Given the description of an element on the screen output the (x, y) to click on. 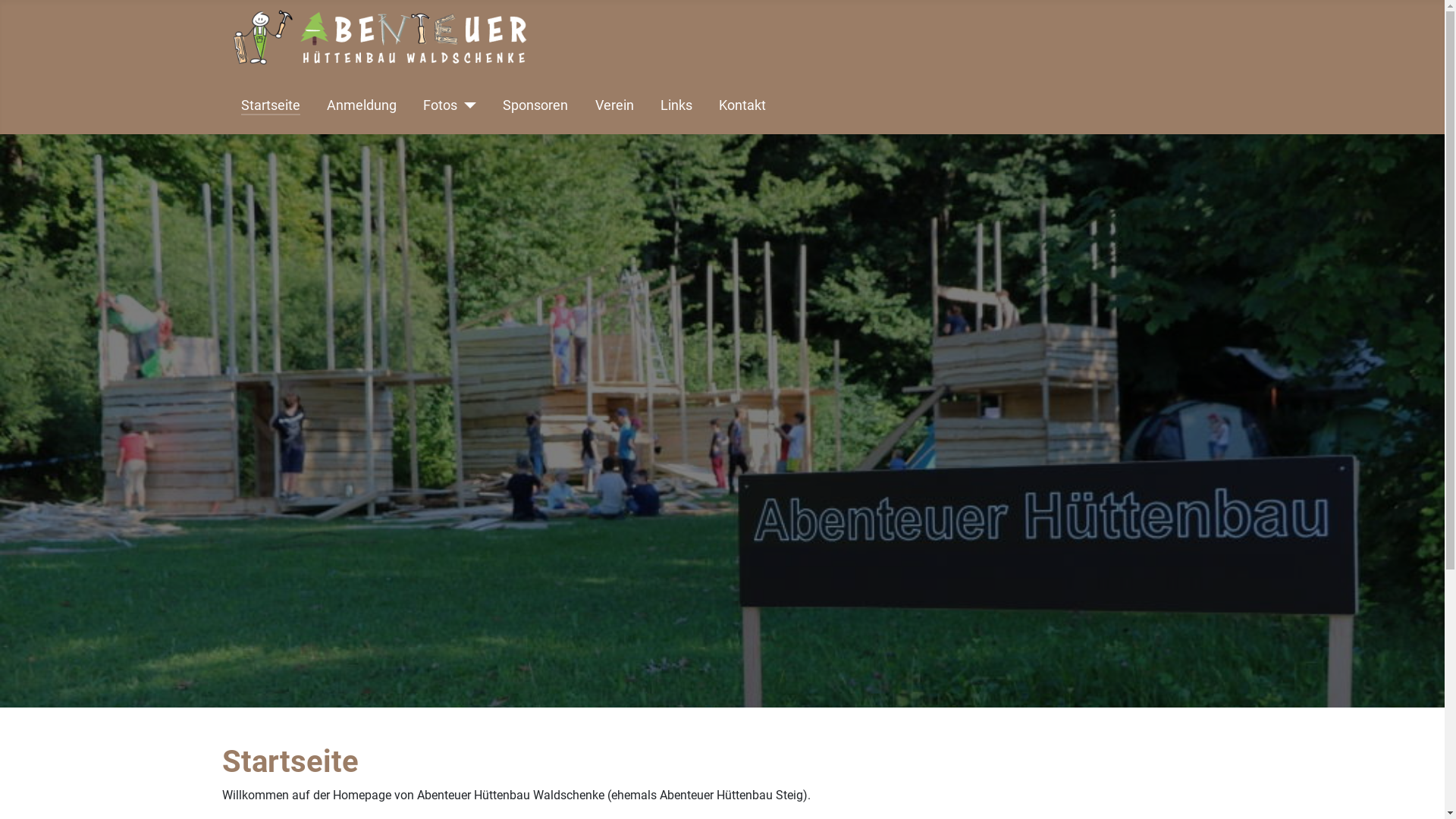
Fotos Element type: text (449, 105)
Startseite Element type: text (270, 105)
Verein Element type: text (614, 105)
Anmeldung Element type: text (361, 105)
Sponsoren Element type: text (534, 105)
Kontakt Element type: text (741, 105)
Links Element type: text (676, 105)
